Given the description of an element on the screen output the (x, y) to click on. 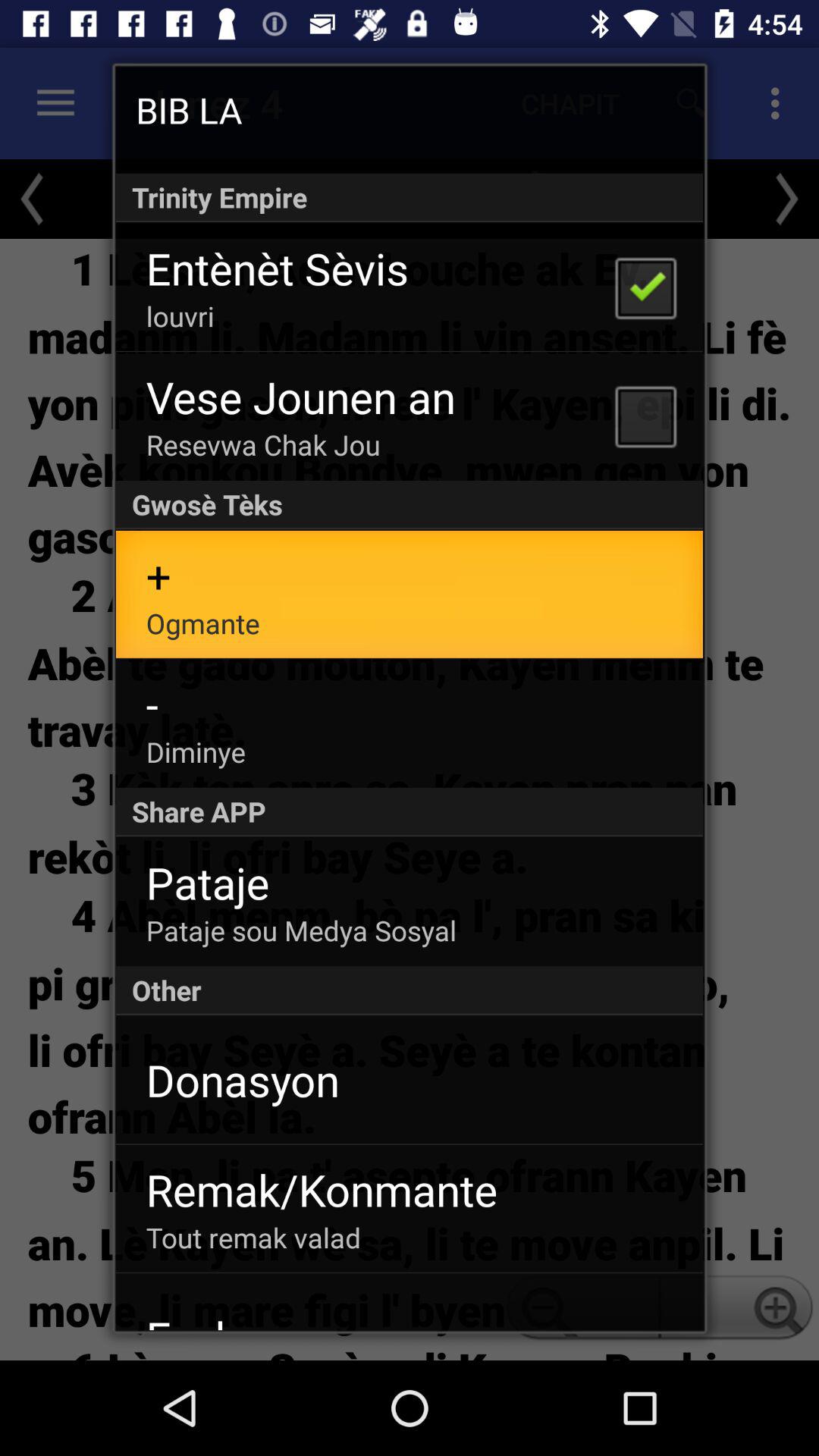
turn off icon below tout remak valad item (255, 1318)
